Given the description of an element on the screen output the (x, y) to click on. 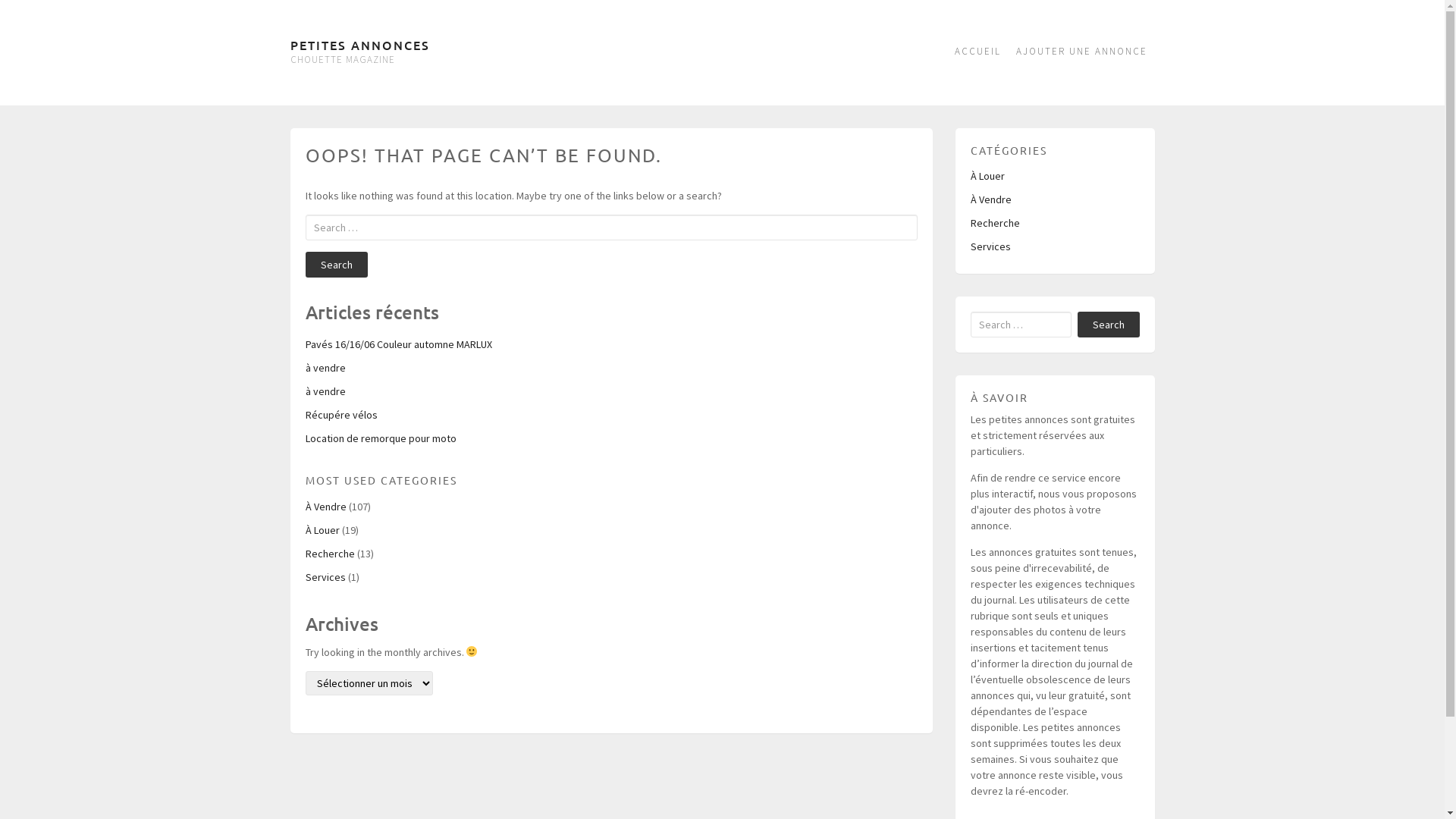
Search Element type: text (1107, 324)
Location de remorque pour moto Element type: text (379, 438)
Services Element type: text (324, 576)
PETITES ANNONCES Element type: text (359, 44)
Services Element type: text (990, 246)
AJOUTER UNE ANNONCE Element type: text (1081, 52)
Recherche Element type: text (329, 553)
Recherche Element type: text (994, 222)
Search for: Element type: hover (1020, 324)
Search for: Element type: hover (610, 227)
Search Element type: text (335, 264)
ACCUEIL Element type: text (976, 52)
